Given the description of an element on the screen output the (x, y) to click on. 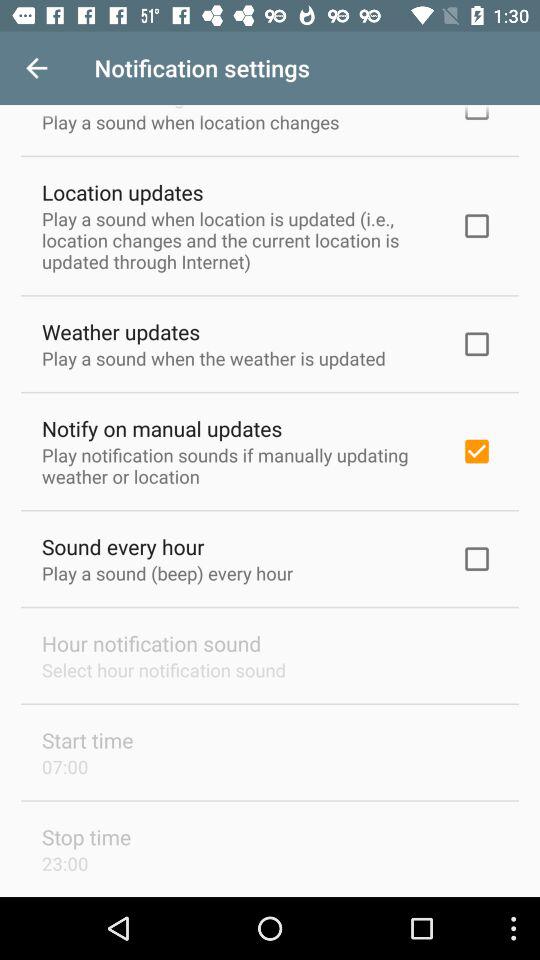
choose item below select hour notification (87, 740)
